Given the description of an element on the screen output the (x, y) to click on. 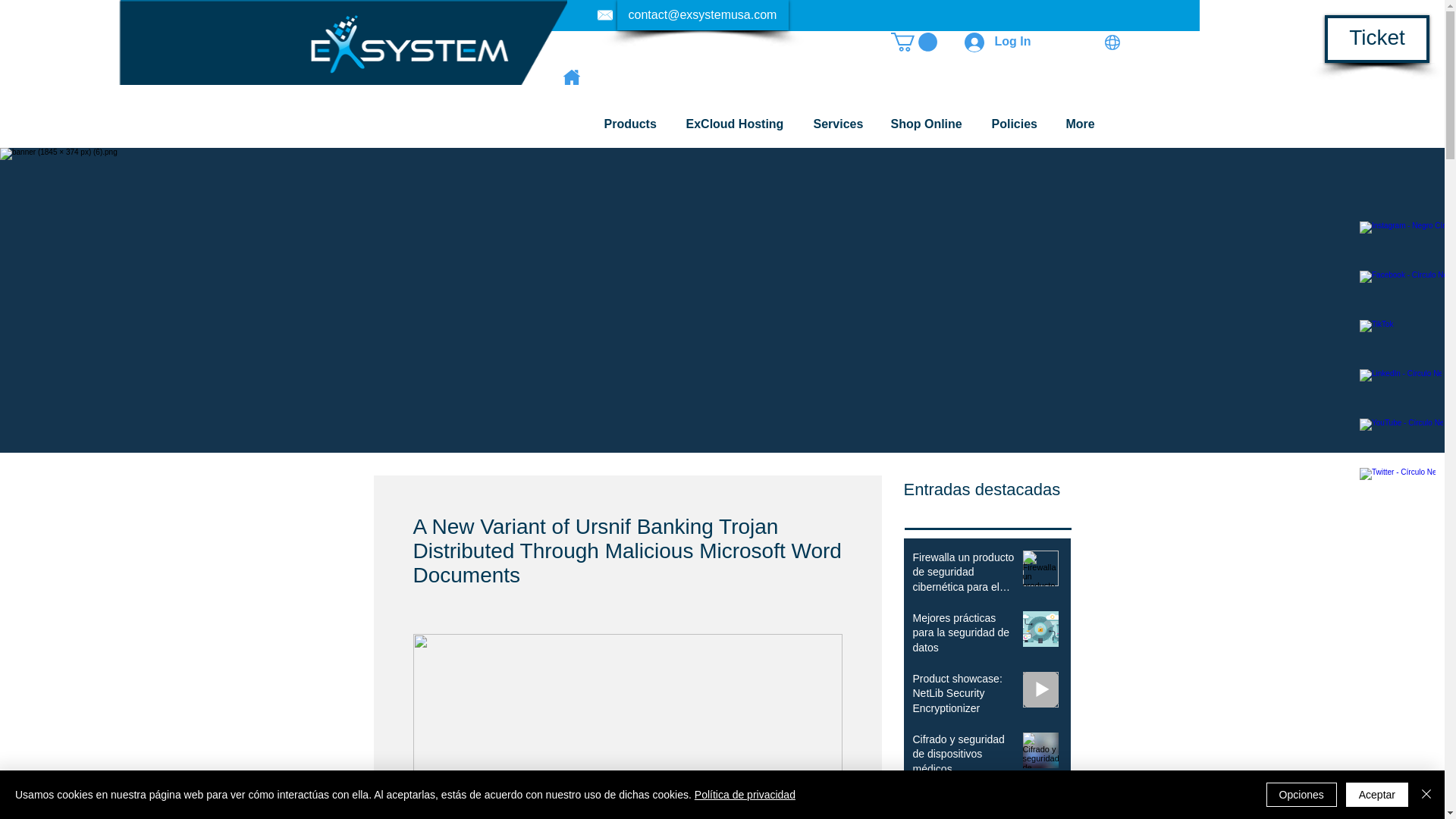
Ticket (1376, 39)
Policies (1016, 124)
Log In (997, 41)
Services (840, 124)
Shop Online (929, 124)
ExCloud Hosting (738, 124)
Products (633, 124)
